Given the description of an element on the screen output the (x, y) to click on. 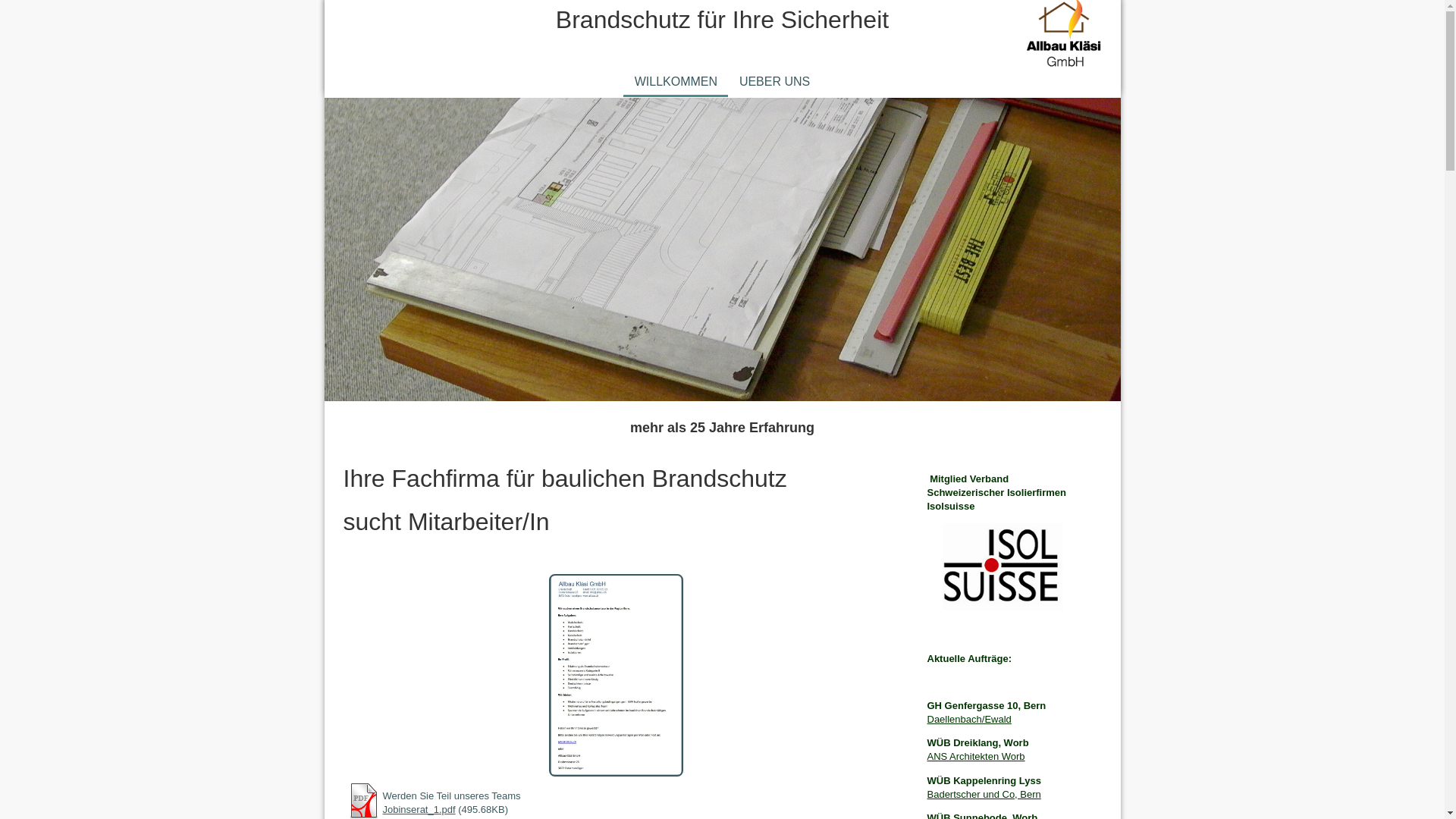
UEBER UNS Element type: text (774, 81)
Badertscher und Co, Bern Element type: text (983, 794)
WILLKOMMEN Element type: text (675, 81)
Daellenbach/Ewald Element type: text (968, 718)
ANS Architekten Worb Element type: text (975, 756)
Jobinserat_1.pdf Element type: text (418, 809)
